Given the description of an element on the screen output the (x, y) to click on. 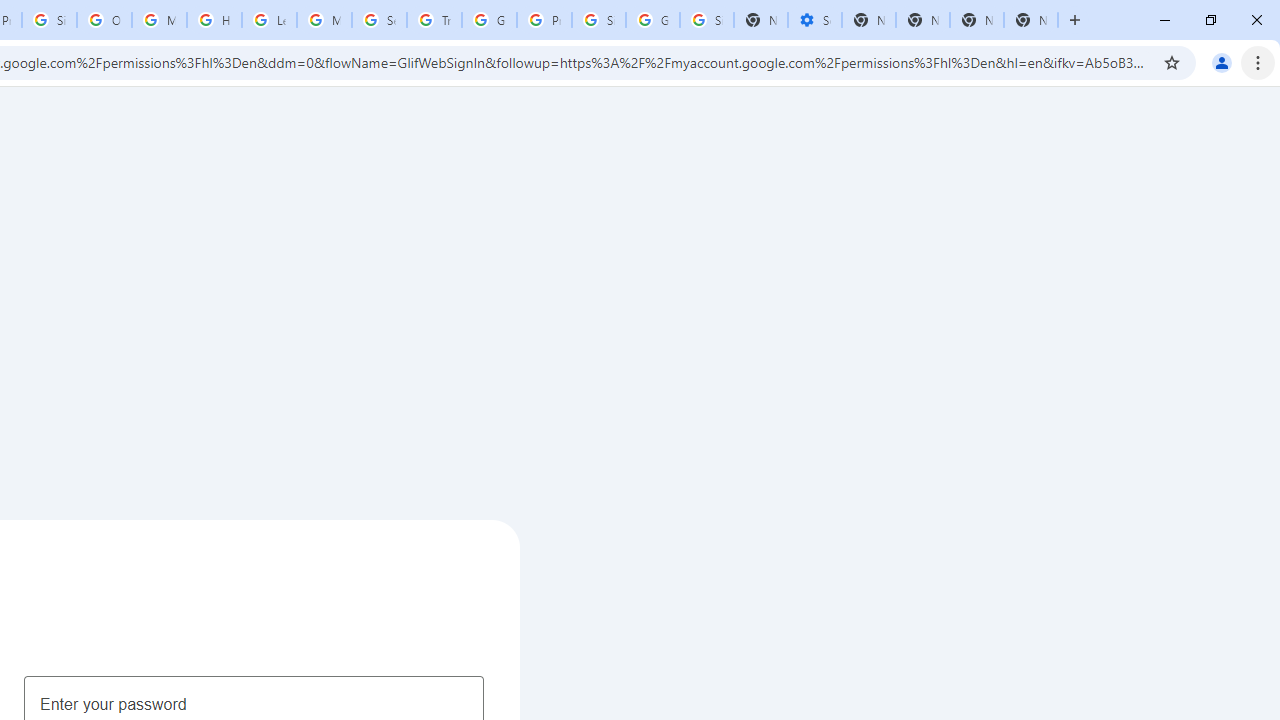
Settings - Performance (815, 20)
Google Ads - Sign in (489, 20)
Search our Doodle Library Collection - Google Doodles (379, 20)
Sign in - Google Accounts (598, 20)
